Given the description of an element on the screen output the (x, y) to click on. 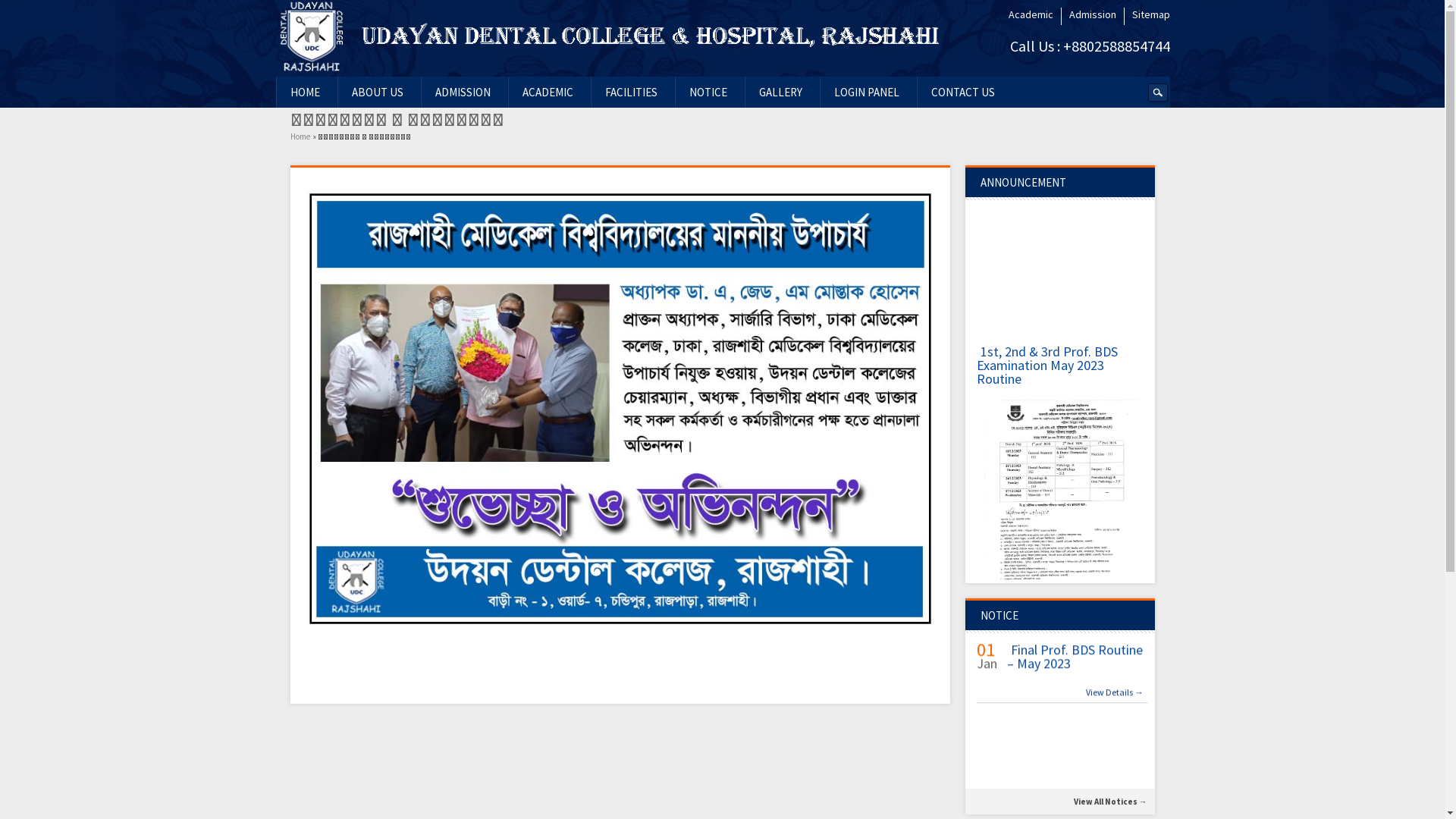
CONTACT US Element type: text (963, 91)
FACILITIES Element type: text (630, 91)
ADMISSION Element type: text (462, 91)
HOME Element type: text (304, 91)
Academic Element type: text (1030, 14)
GALLERY Element type: text (779, 91)
Sitemap Element type: text (1150, 14)
NOTICE Element type: text (707, 91)
ABOUT US Element type: text (377, 91)
LOGIN PANEL Element type: text (866, 91)
  Element type: text (1157, 93)
ACADEMIC Element type: text (546, 91)
Admission Element type: text (1092, 14)
1st, 2nd & 3rd Prof. BDS Examination May 2023 Routine Element type: text (1046, 404)
Home Element type: text (298, 140)
